Given the description of an element on the screen output the (x, y) to click on. 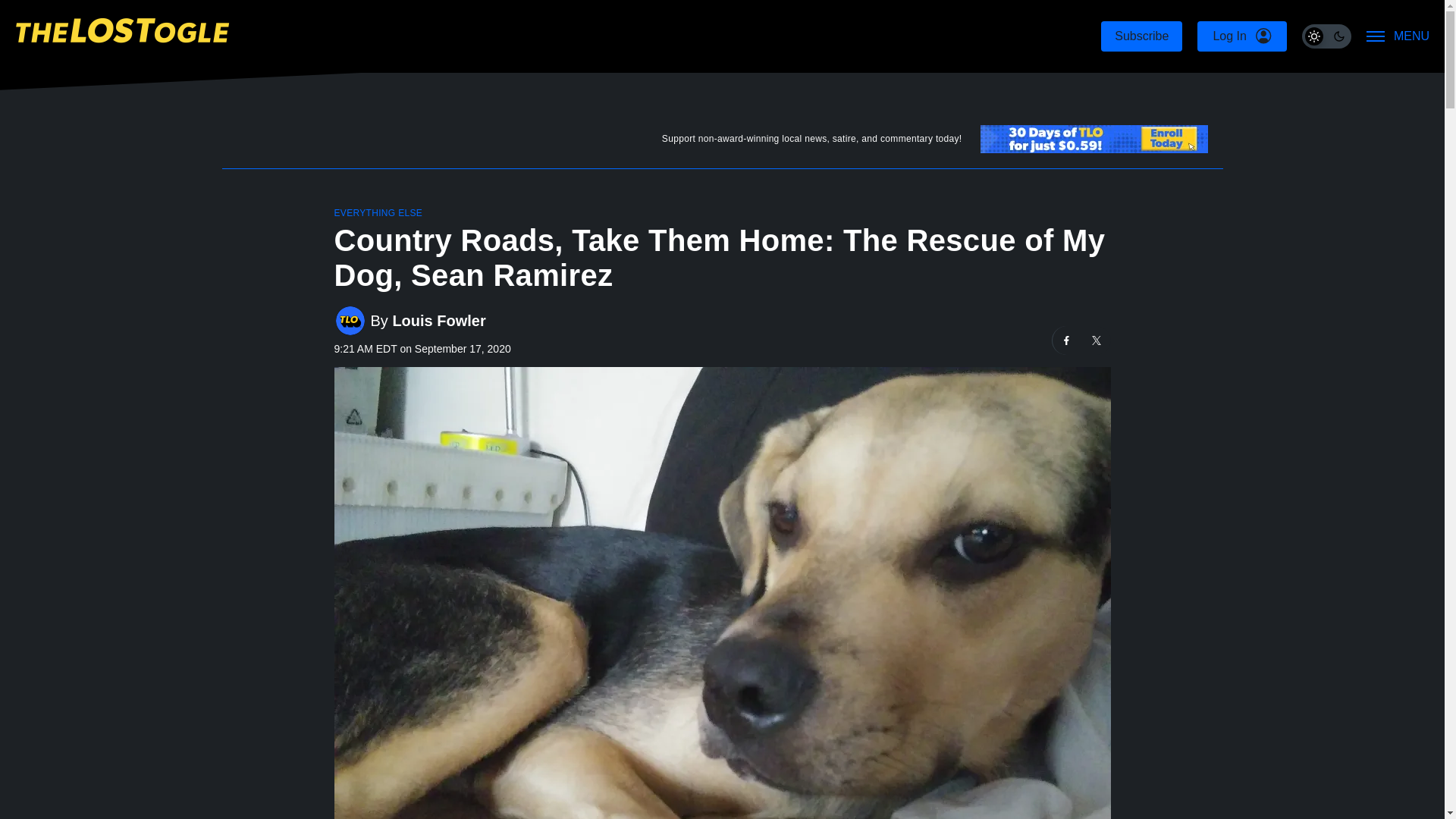
Log In (1240, 36)
Subscribe (1141, 36)
Louis Fowler (437, 320)
Share on Facebook (1066, 339)
EVERYTHING ELSE (377, 213)
MENU (1398, 36)
